Given the description of an element on the screen output the (x, y) to click on. 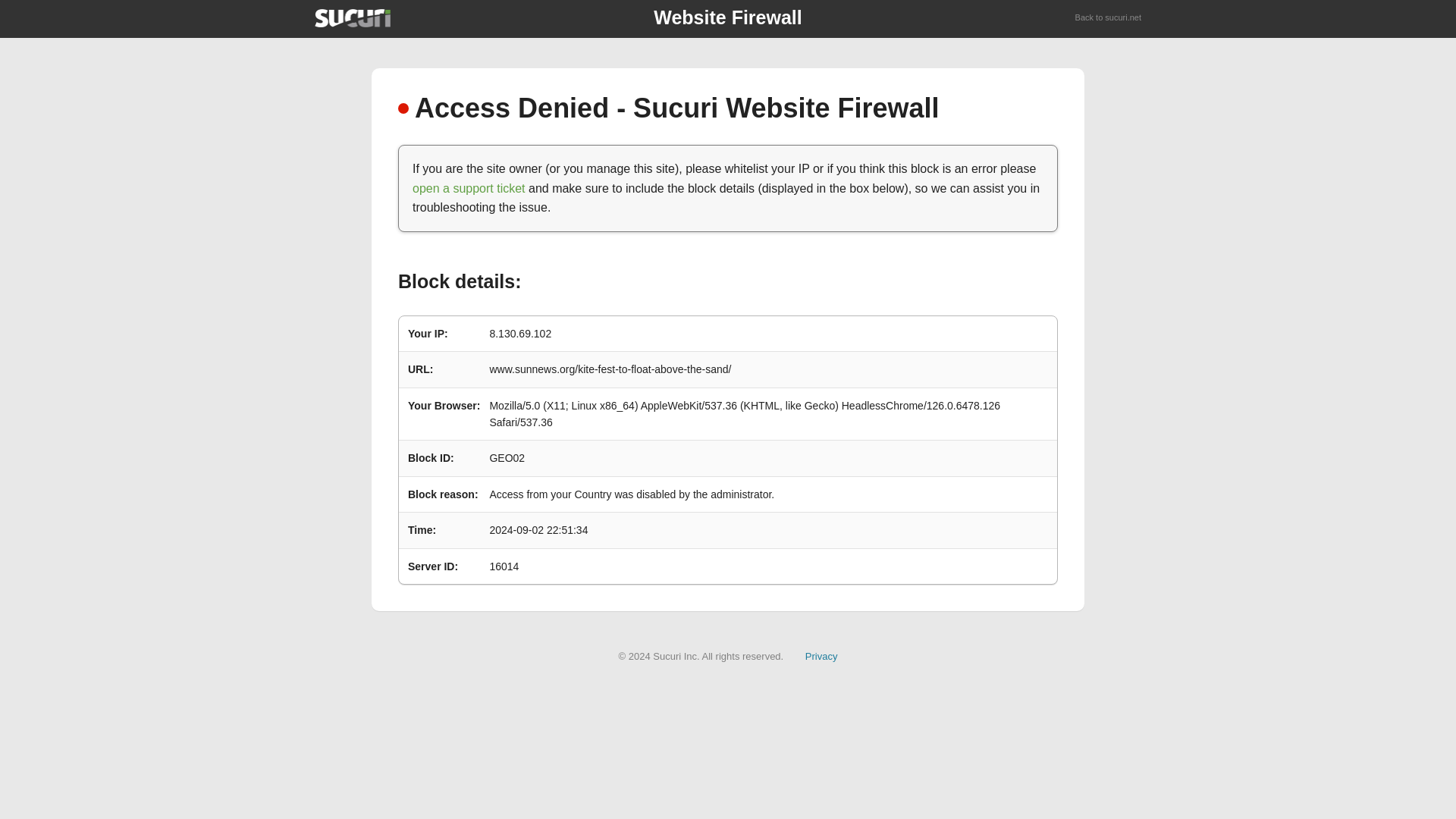
Back to sucuri.net (1108, 18)
Privacy (821, 655)
open a support ticket (468, 187)
